Given the description of an element on the screen output the (x, y) to click on. 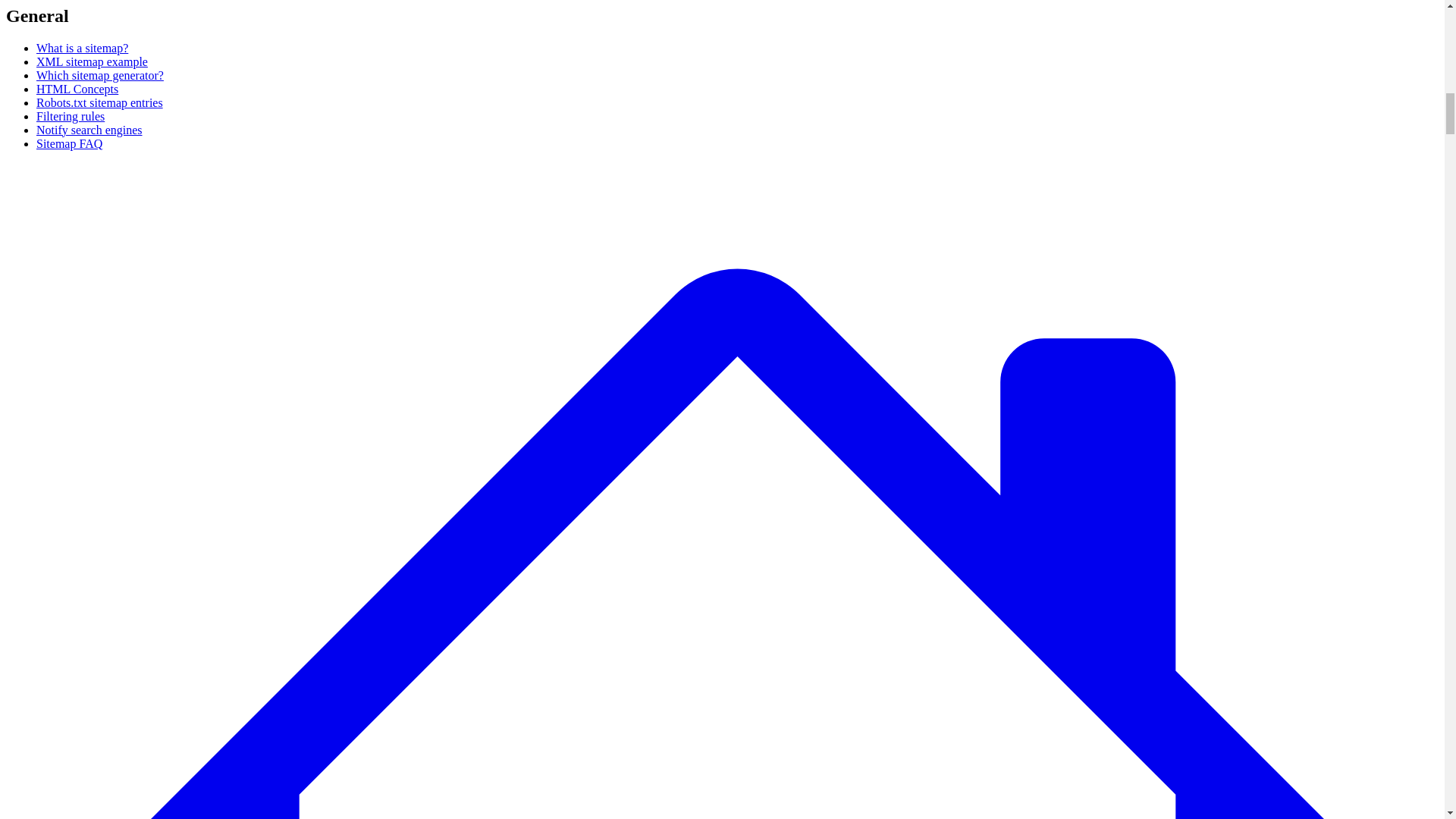
Sitemap FAQ (68, 143)
Filtering rules (70, 115)
XML sitemap example (92, 61)
What is a sitemap? (82, 47)
HTML Concepts (76, 88)
Which sitemap generator? (99, 74)
Robots.txt sitemap entries (99, 102)
Notify search engines (89, 129)
